Given the description of an element on the screen output the (x, y) to click on. 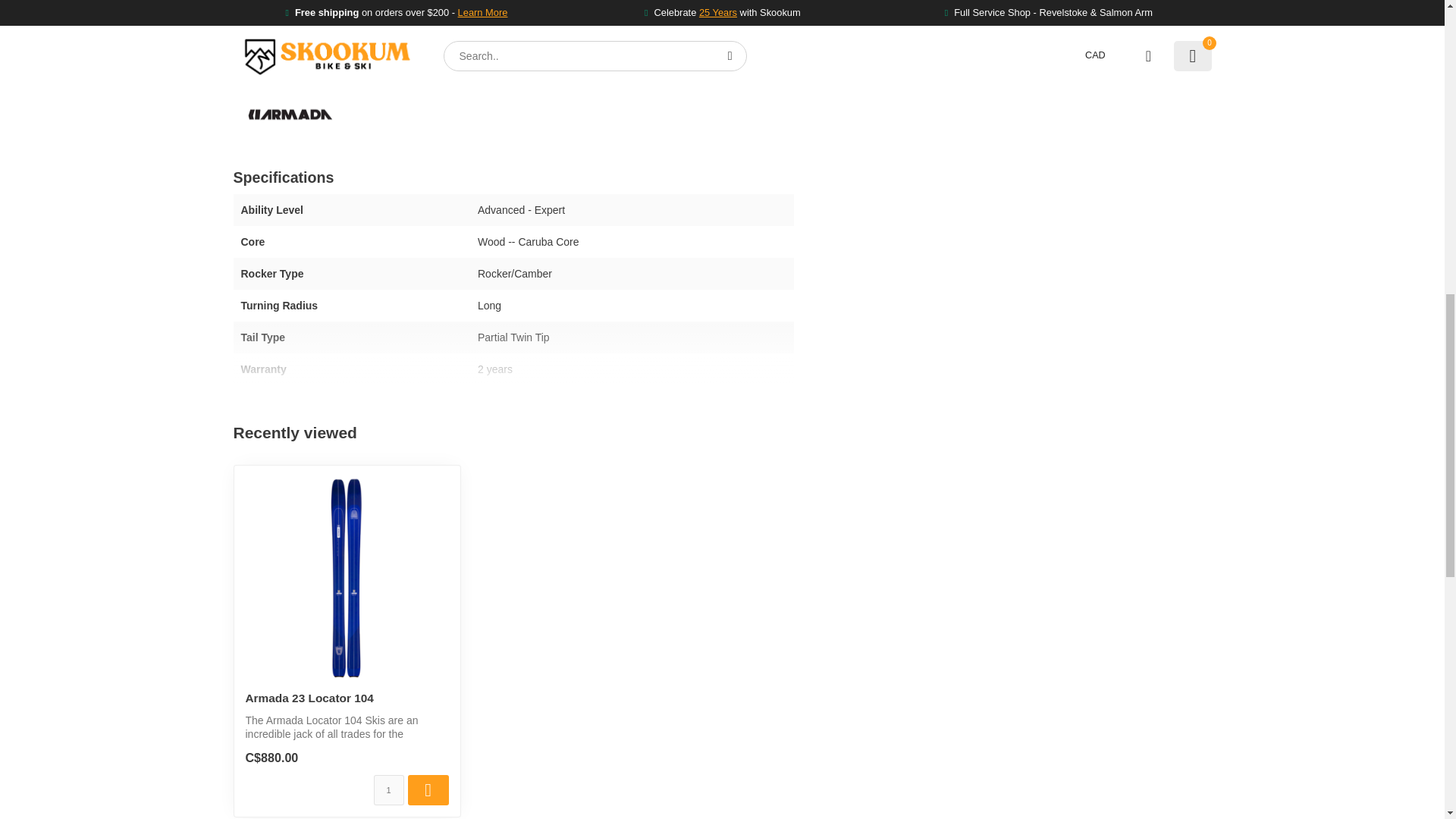
1 (389, 789)
Armada Armada 23 Locator 112 (895, 66)
Armada Armada 23 Locator 104 (347, 698)
Armada Armada 23 Locator 104 (347, 578)
